Given the description of an element on the screen output the (x, y) to click on. 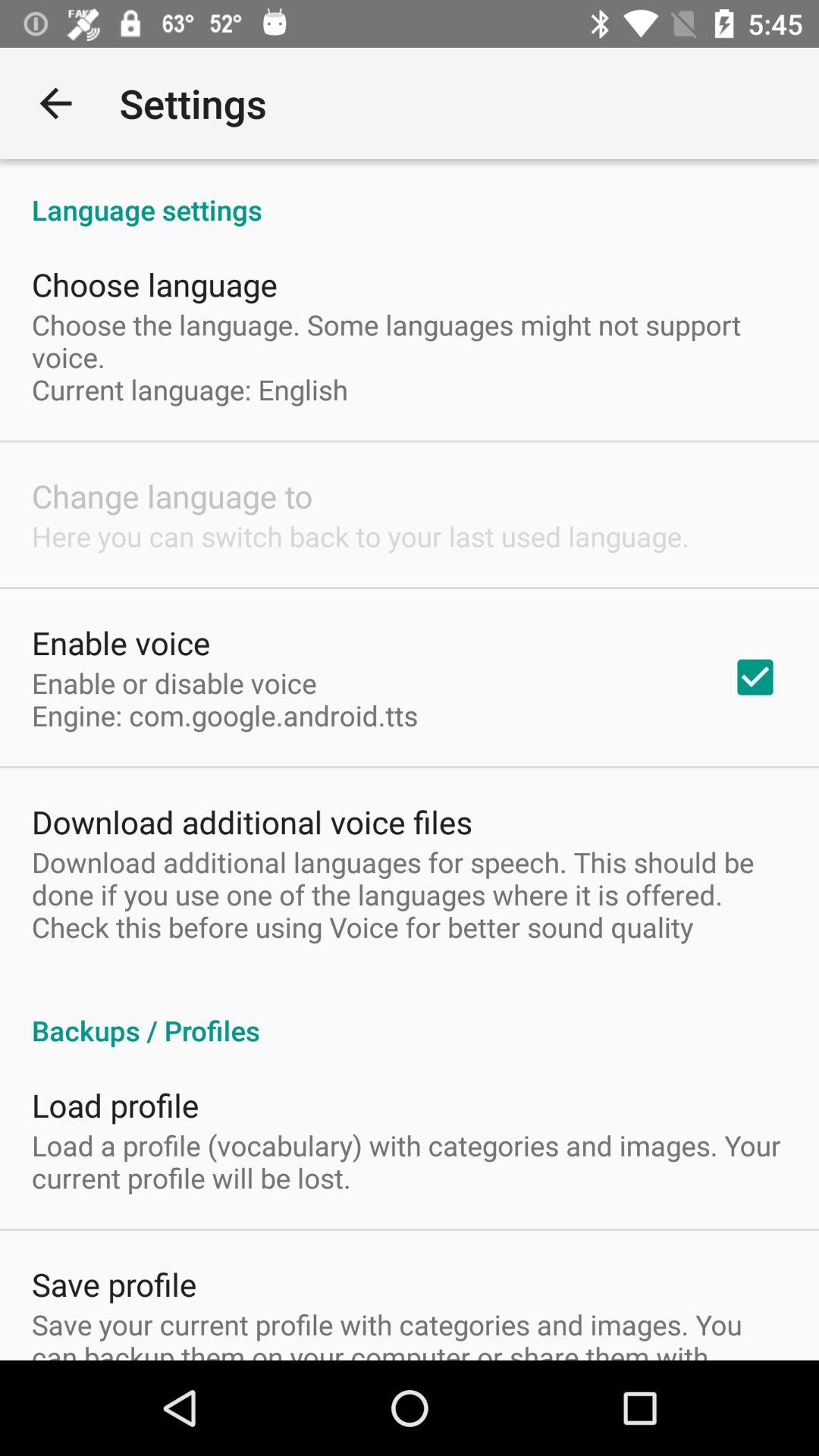
open app next to settings item (55, 103)
